Given the description of an element on the screen output the (x, y) to click on. 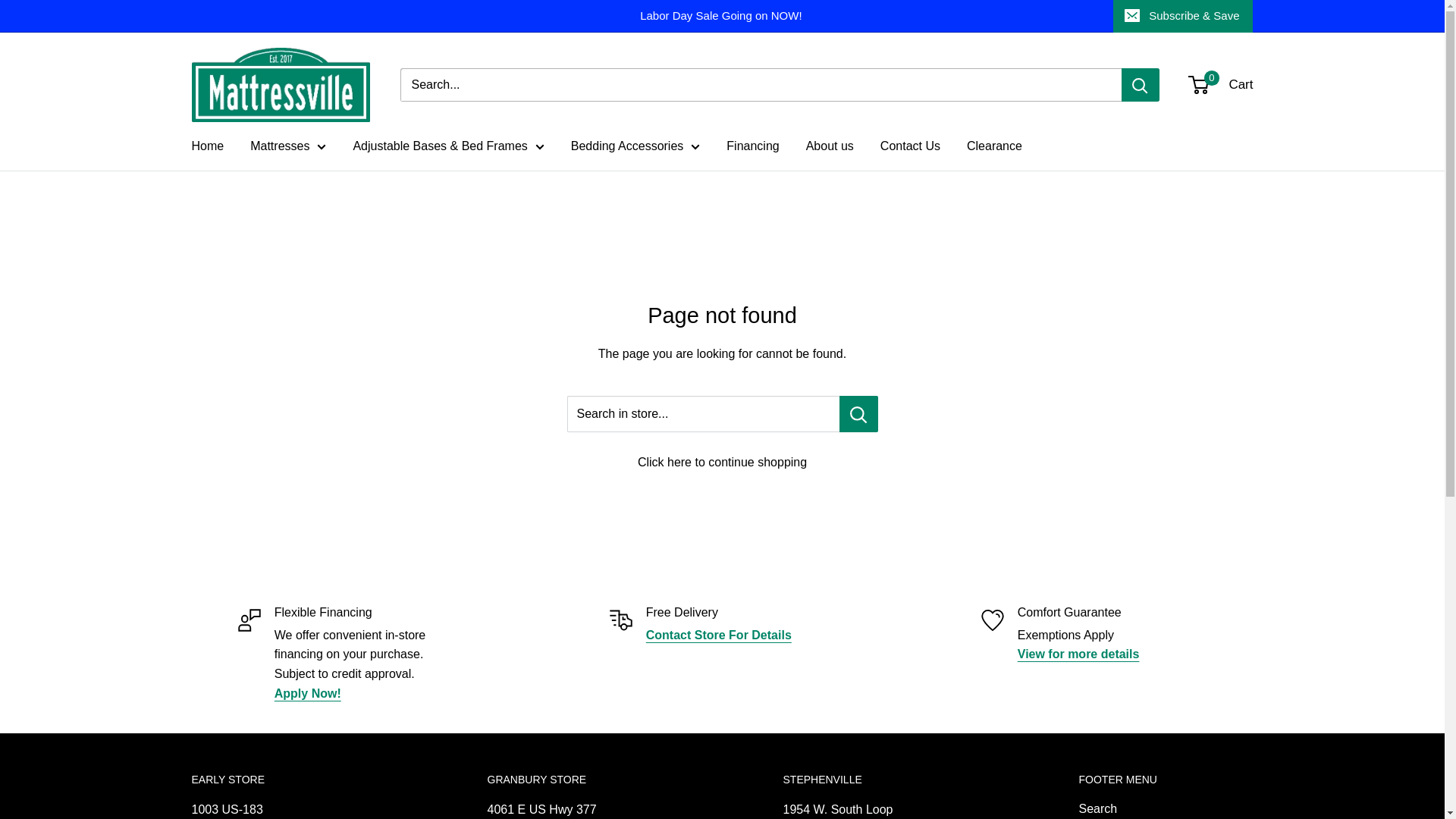
Labor Day Sale Going on NOW! (652, 15)
Contact Us (719, 634)
Comfort Guarantee (1078, 653)
Financing (307, 693)
